Given the description of an element on the screen output the (x, y) to click on. 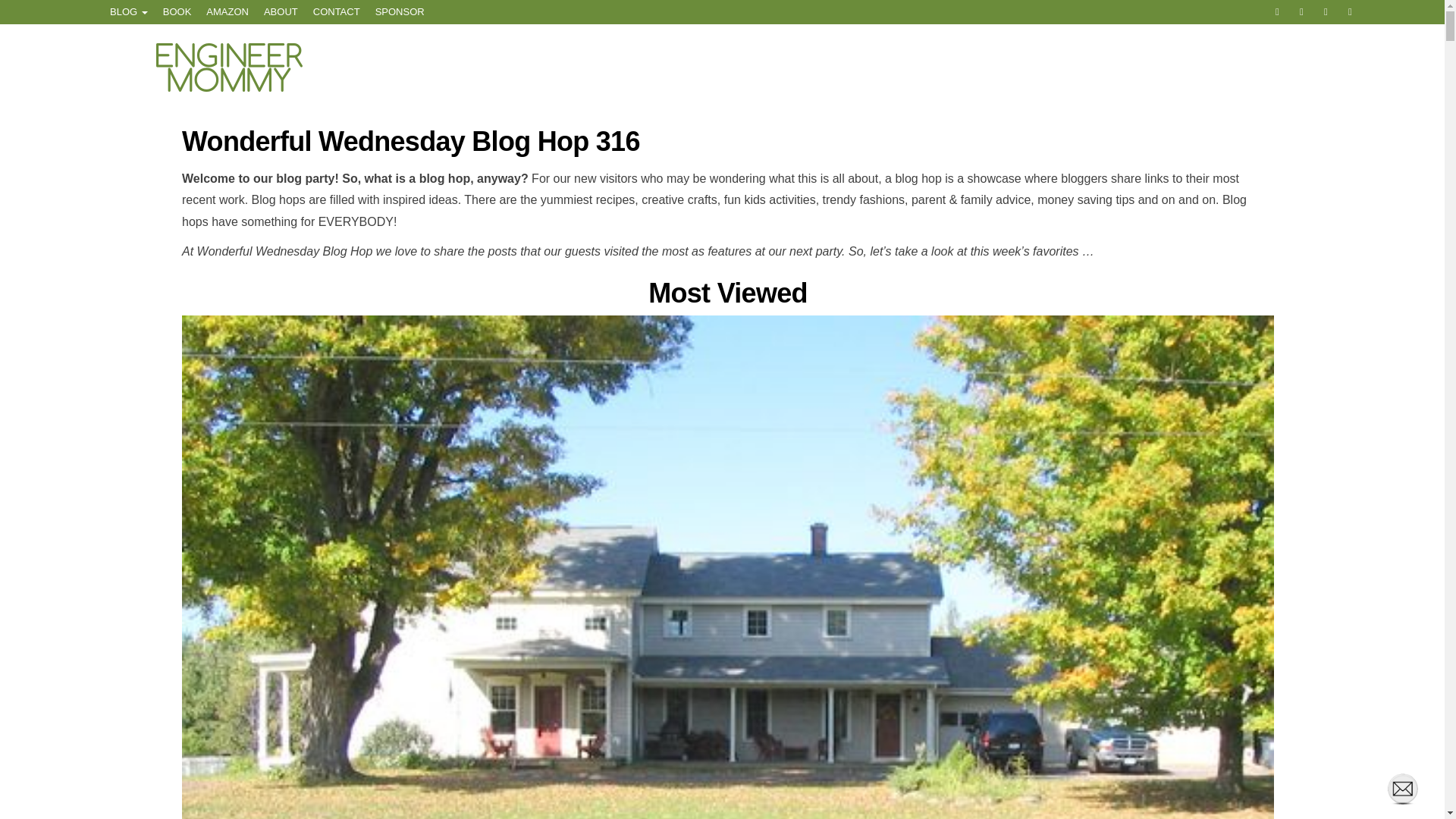
Pinterest (1352, 12)
About (280, 12)
Sponsor (400, 12)
Amazon (227, 12)
BOOK (177, 12)
Facebook (1280, 12)
Contact (336, 12)
SPONSOR (400, 12)
 FACEBOOK (1280, 12)
CONTACT (336, 12)
BLOG (128, 12)
ABOUT (280, 12)
Engineer Mommy (336, 78)
Twitter (1304, 12)
Book (177, 12)
